Given the description of an element on the screen output the (x, y) to click on. 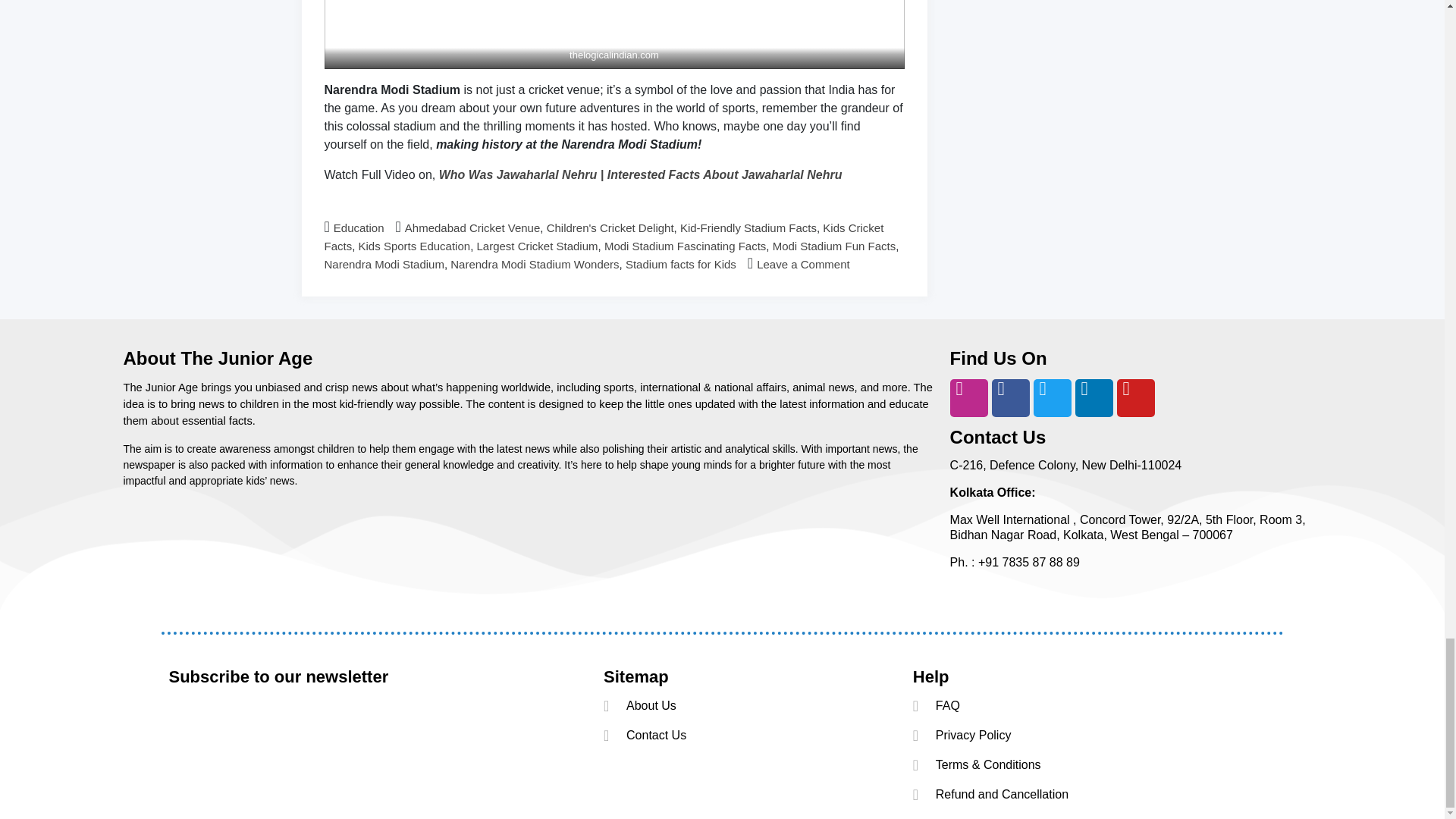
Kids Cricket Facts (603, 236)
Modi Stadium Fascinating Facts (684, 245)
Children's Cricket Delight (610, 227)
Narendra Modi Stadium (384, 264)
Largest Cricket Stadium (536, 245)
Kids Sports Education (414, 245)
Narendra Modi Stadium Wonders (533, 264)
Kid-Friendly Stadium Facts (747, 227)
Education (358, 227)
Ahmedabad Cricket Venue (472, 227)
